Given the description of an element on the screen output the (x, y) to click on. 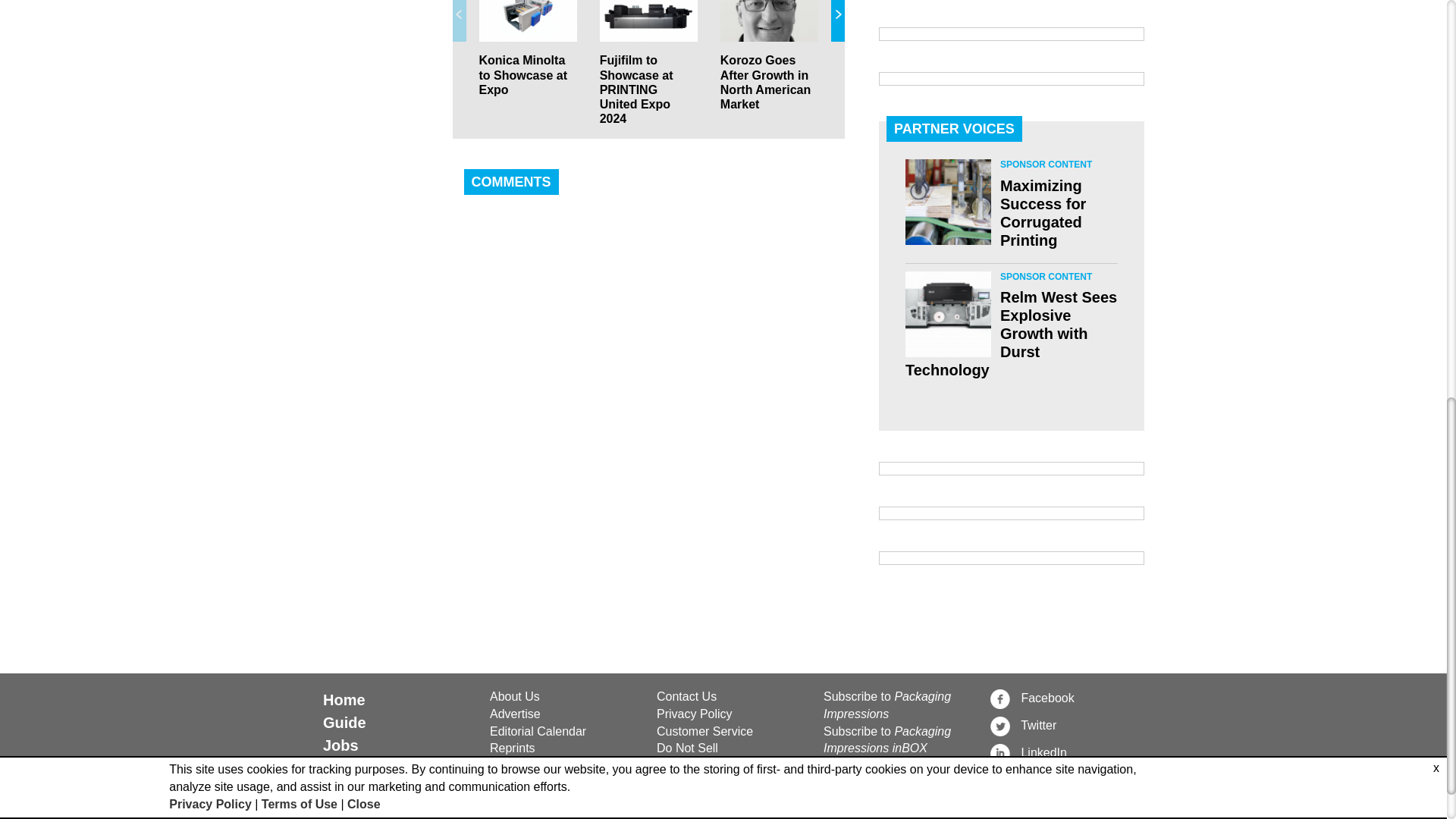
Opens in a new window (1065, 752)
Opens in a new window (731, 732)
Opens in a new window (731, 714)
Opens in a new window (1065, 698)
Opens in a new window (1065, 725)
Opens in a new window (731, 748)
